Given the description of an element on the screen output the (x, y) to click on. 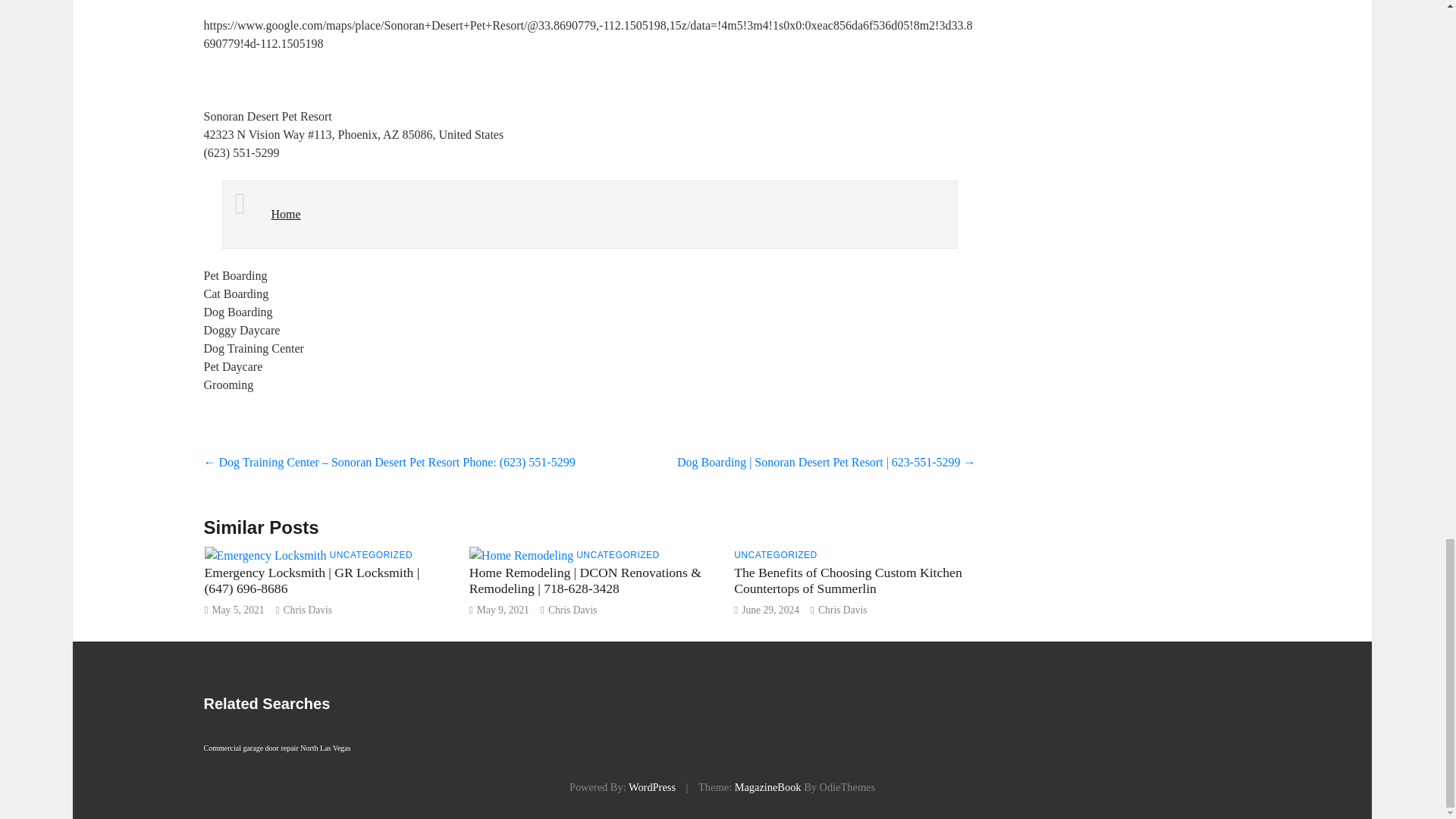
Chris Davis (842, 609)
UNCATEGORIZED (370, 554)
Home (285, 214)
UNCATEGORIZED (774, 554)
UNCATEGORIZED (617, 554)
May 9, 2021 (503, 609)
MagazineBook (768, 787)
Chris Davis (308, 609)
Chris Davis (572, 609)
WordPress (651, 787)
May 5, 2021 (237, 609)
Commercial garage door repair North Las Vegas (276, 741)
June 29, 2024 (770, 609)
